Given the description of an element on the screen output the (x, y) to click on. 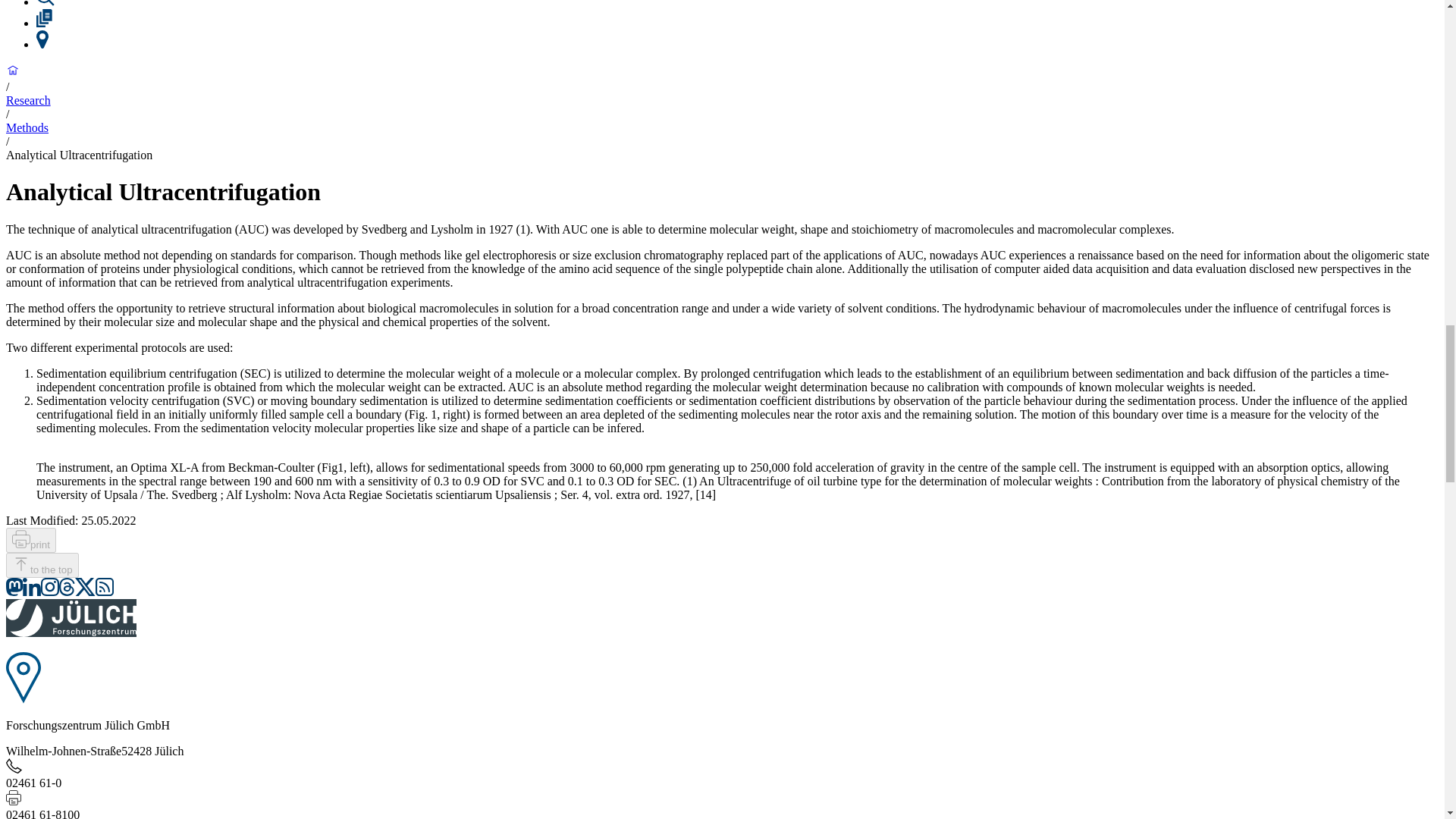
Research (45, 4)
Publications (44, 22)
Home (12, 72)
How to reach us (42, 43)
